Given the description of an element on the screen output the (x, y) to click on. 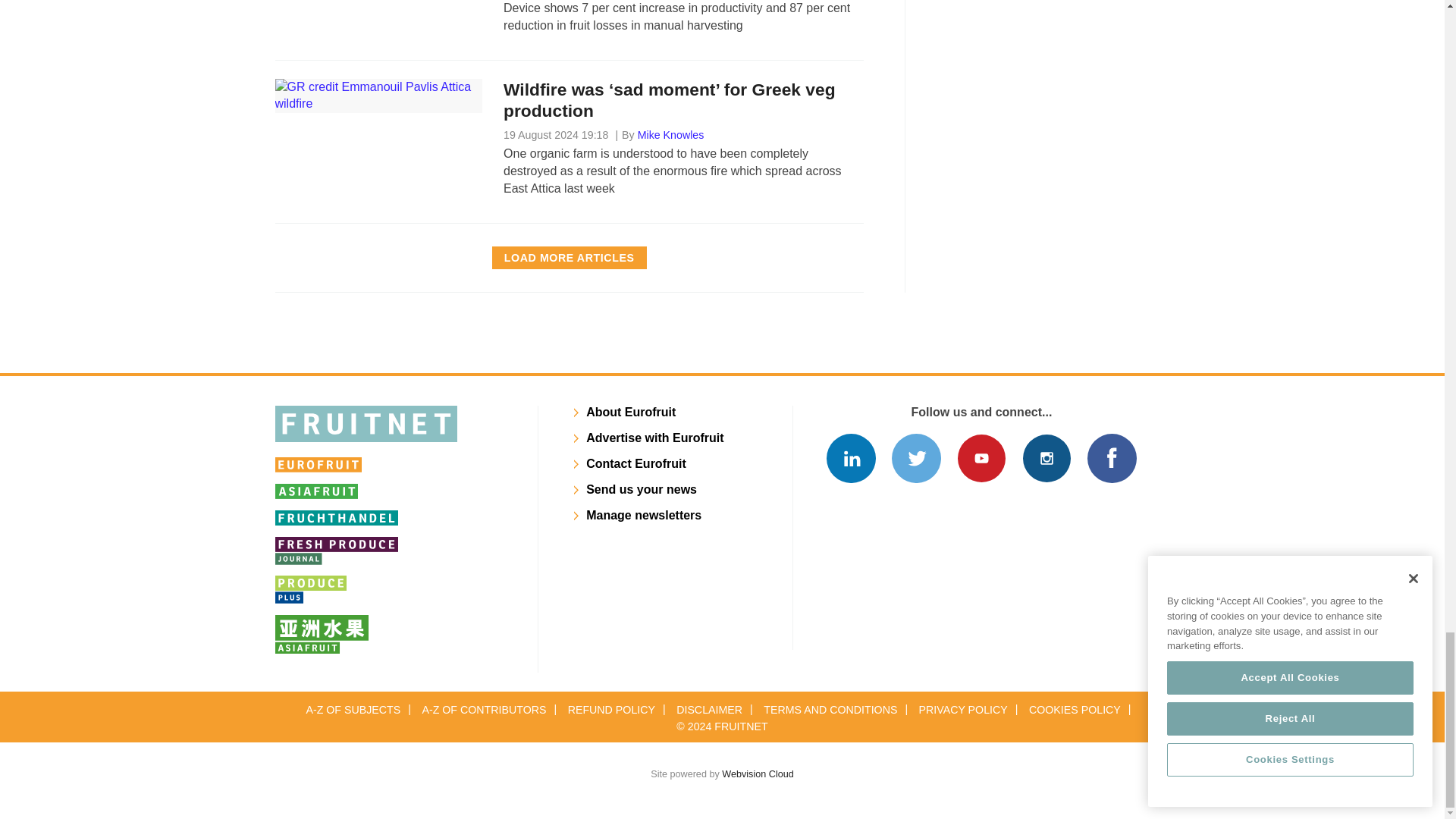
Follow us on Linked In (851, 458)
Connect with us on Twitter (915, 458)
Follow us on Facebook (1112, 458)
Follow us on Instagram (1046, 458)
Connect with us on Youtube (981, 458)
